Given the description of an element on the screen output the (x, y) to click on. 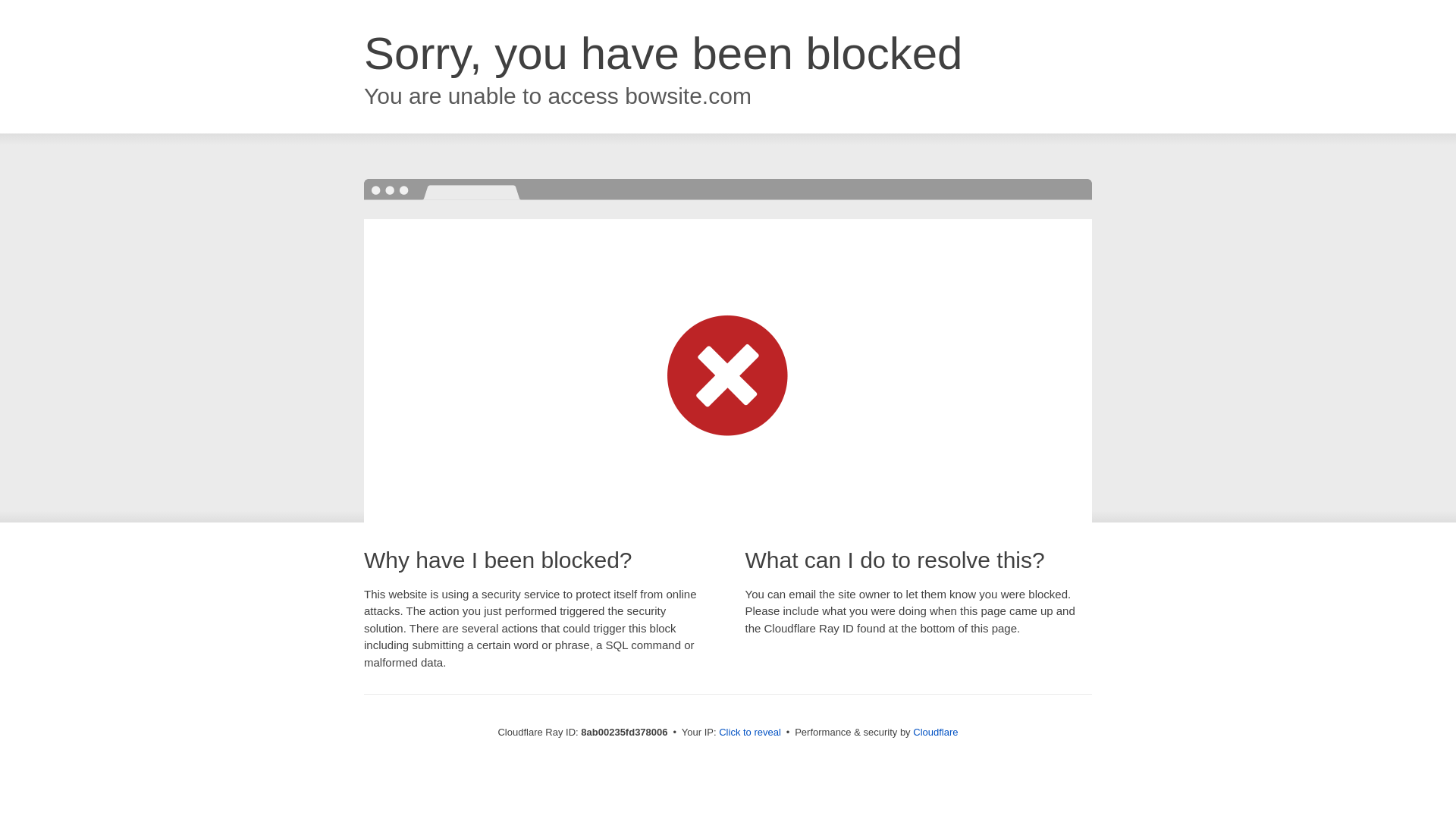
Click to reveal (749, 732)
Cloudflare (935, 731)
